Given the description of an element on the screen output the (x, y) to click on. 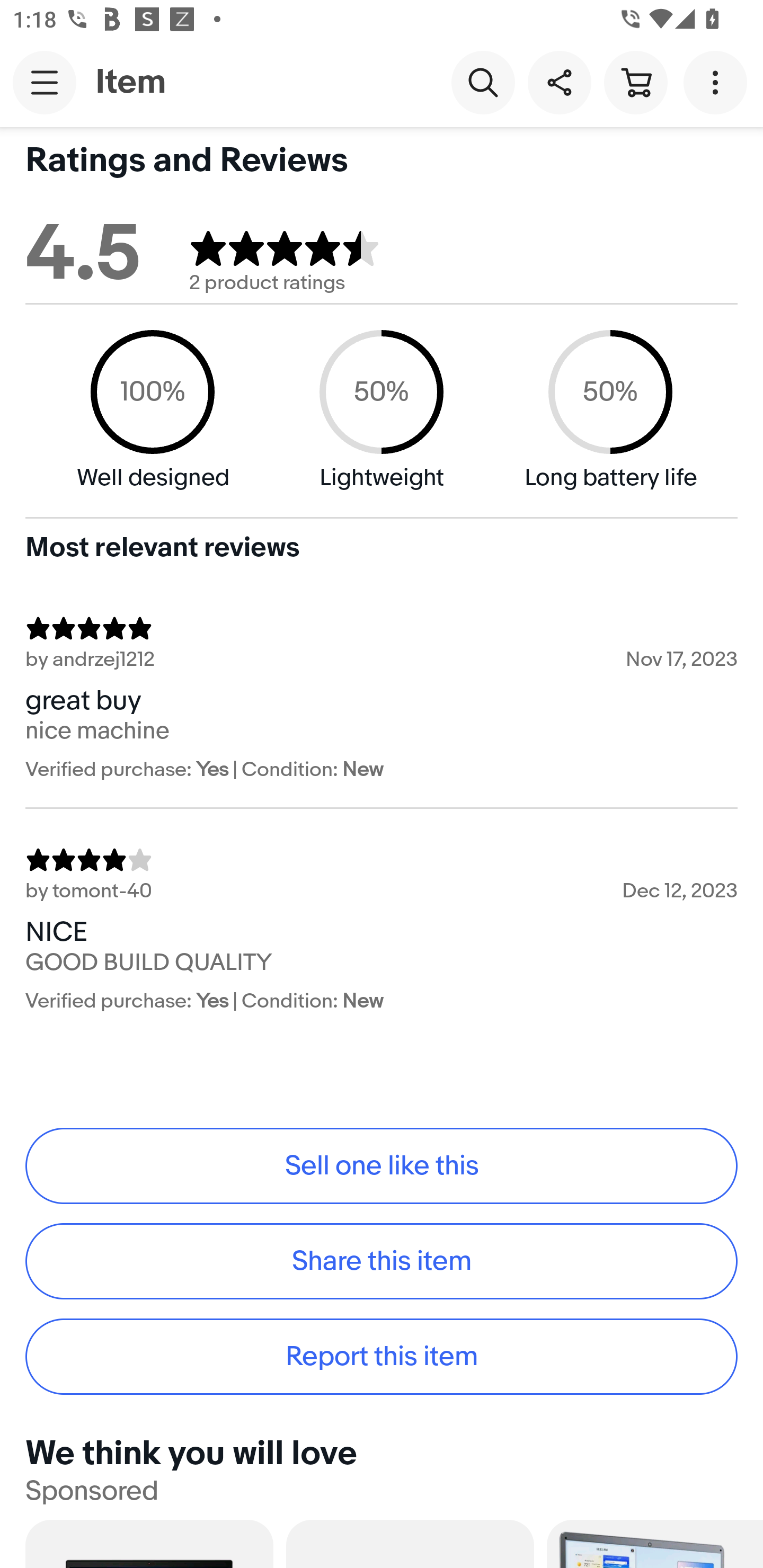
Main navigation, open (44, 82)
Search (482, 81)
Share this item (559, 81)
Cart button shopping cart (635, 81)
More options (718, 81)
Sell one like this (381, 1165)
Share this item (381, 1261)
Report this item (381, 1356)
